Given the description of an element on the screen output the (x, y) to click on. 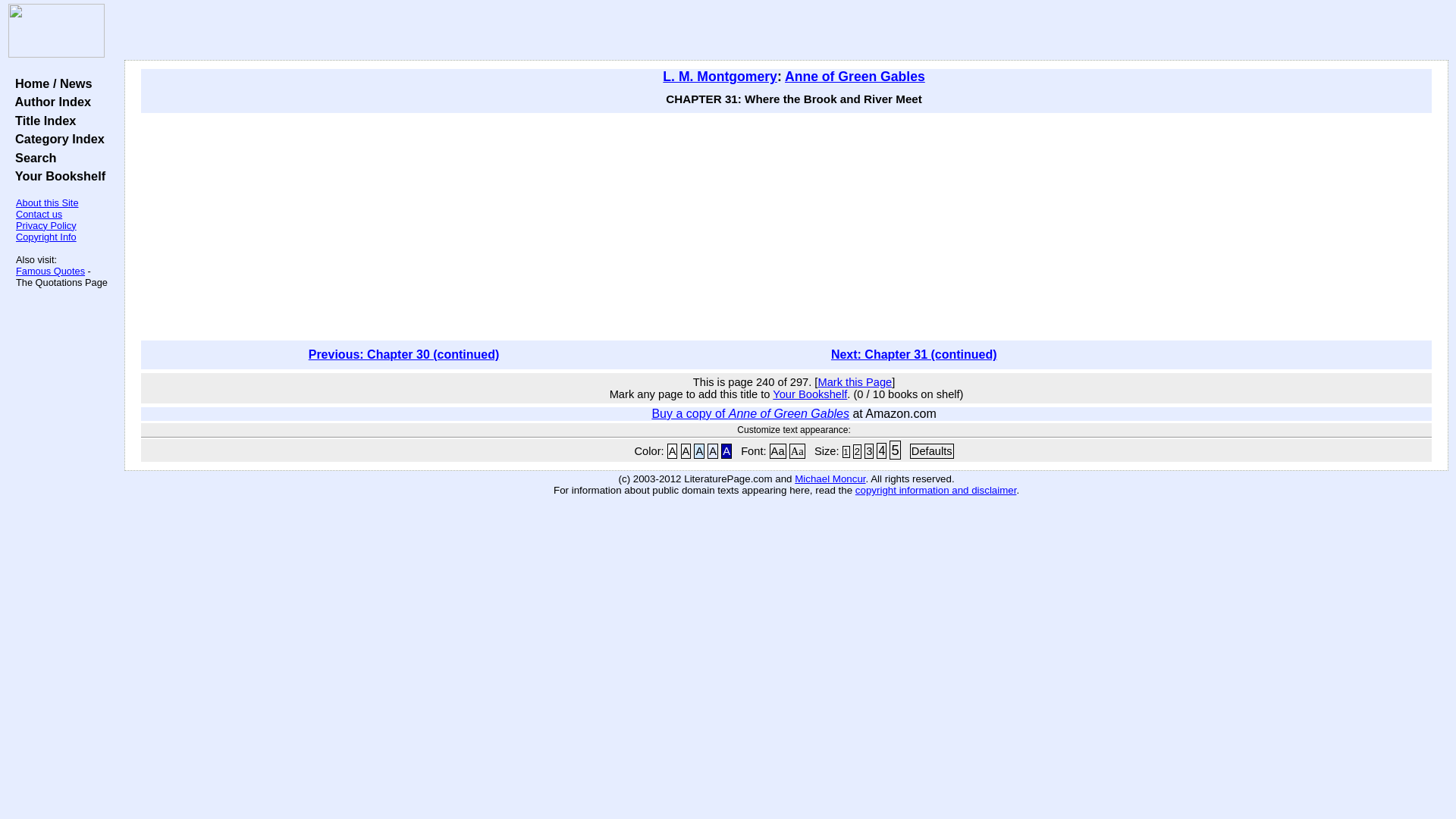
Copyright Info (46, 236)
Your Bookshelf (810, 394)
  Category Index (56, 138)
Reset to Defaults (931, 450)
Michael Moncur (829, 478)
Anne of Green Gables (854, 76)
  Author Index (49, 101)
Contact us (39, 214)
Buy a copy of Anne of Green Gables (749, 413)
  Your Bookshelf (56, 175)
Aa (797, 450)
Serif (797, 450)
L. M. Montgomery (719, 76)
Privacy Policy (46, 225)
Aa (778, 450)
